Given the description of an element on the screen output the (x, y) to click on. 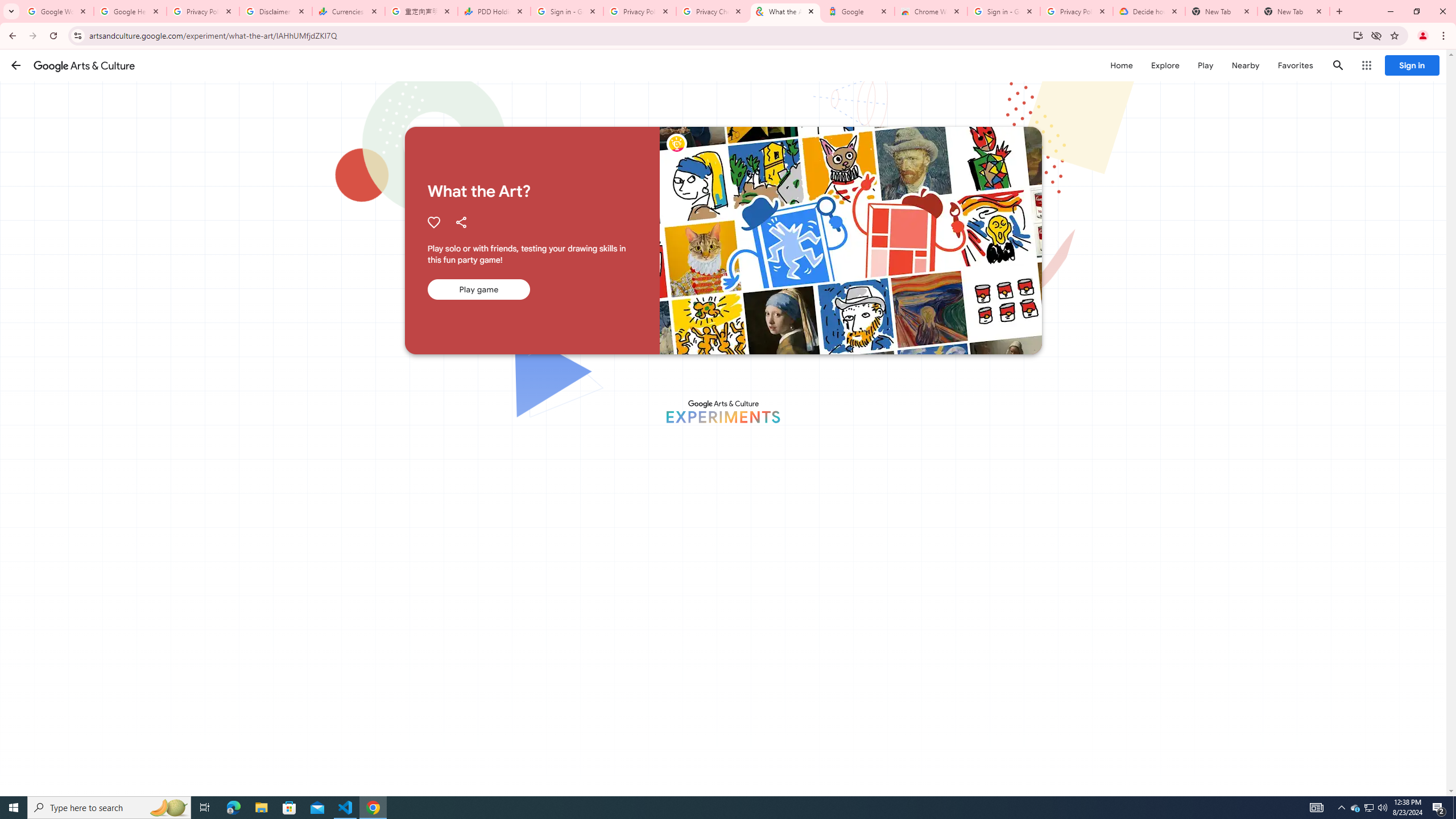
Favorites (1295, 65)
Google Arts & Culture (84, 65)
Google Arts & Culture Experiments (722, 411)
Address and search bar (717, 35)
